Given the description of an element on the screen output the (x, y) to click on. 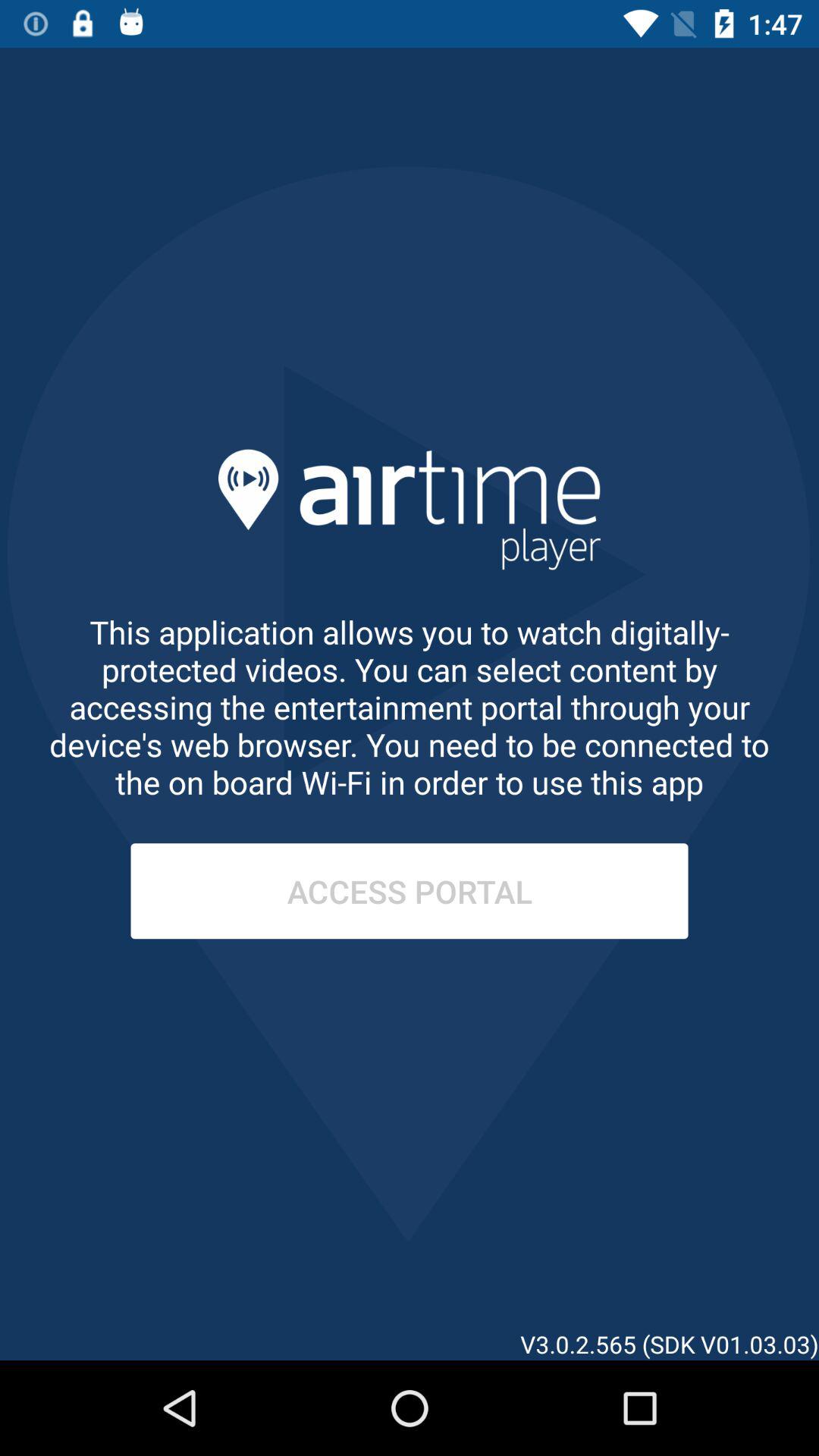
launch icon below access portal item (729, 1270)
